Given the description of an element on the screen output the (x, y) to click on. 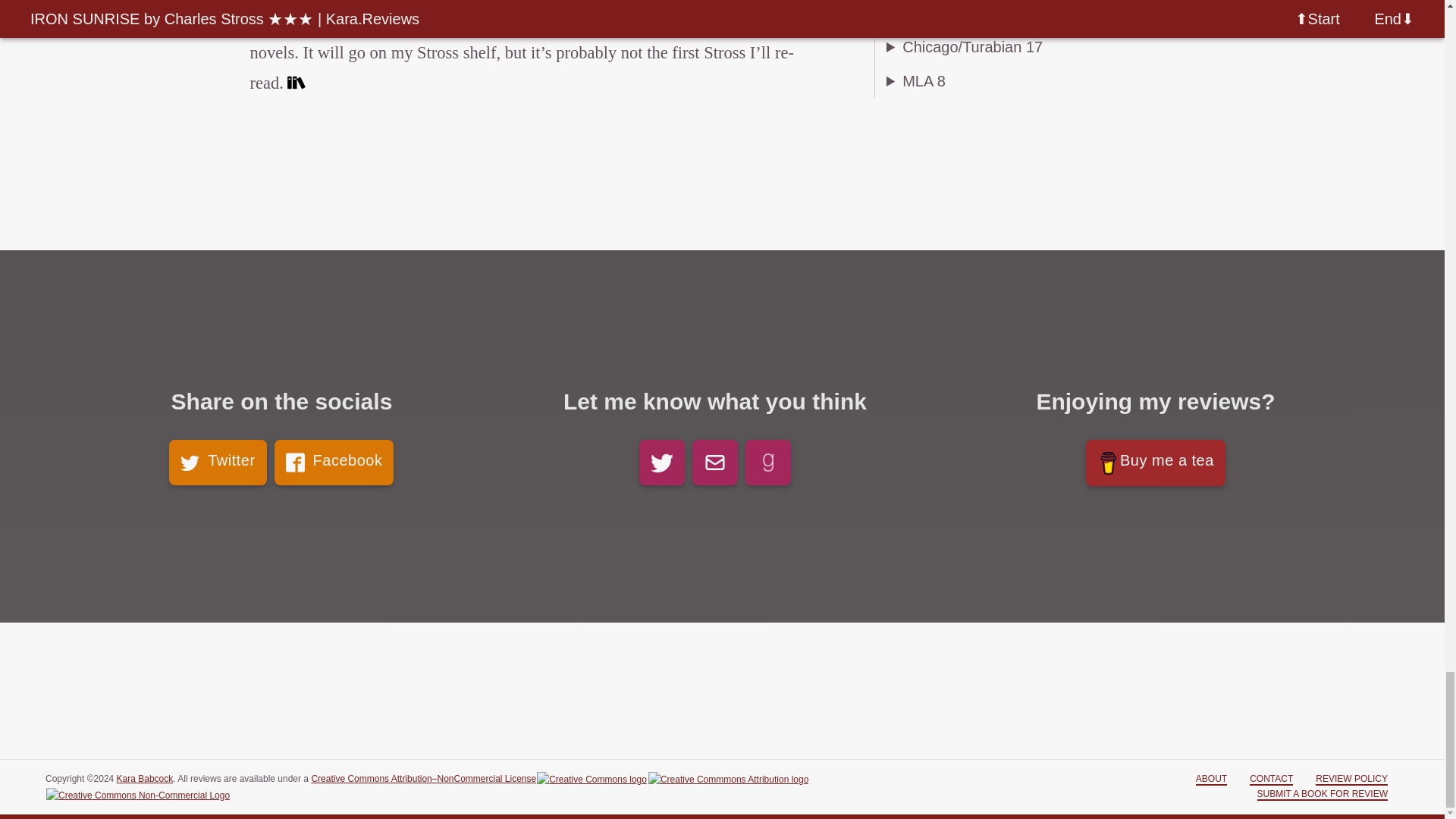
Email me (715, 462)
SUBMIT A BOOK FOR REVIEW (1322, 794)
ABOUT (1211, 779)
REVIEW POLICY (1351, 779)
Kara Babcock (144, 778)
Facebook (334, 462)
Talk to me on Twitter (661, 462)
Buy me a tea (1155, 462)
Twitter (217, 462)
CONTACT (1270, 779)
